Given the description of an element on the screen output the (x, y) to click on. 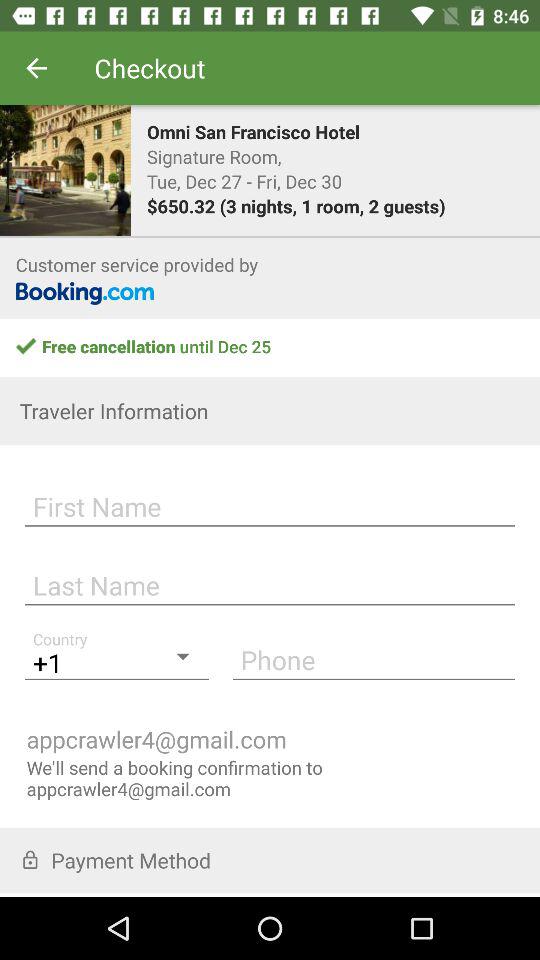
turn off icon to the right of +1 (373, 659)
